Given the description of an element on the screen output the (x, y) to click on. 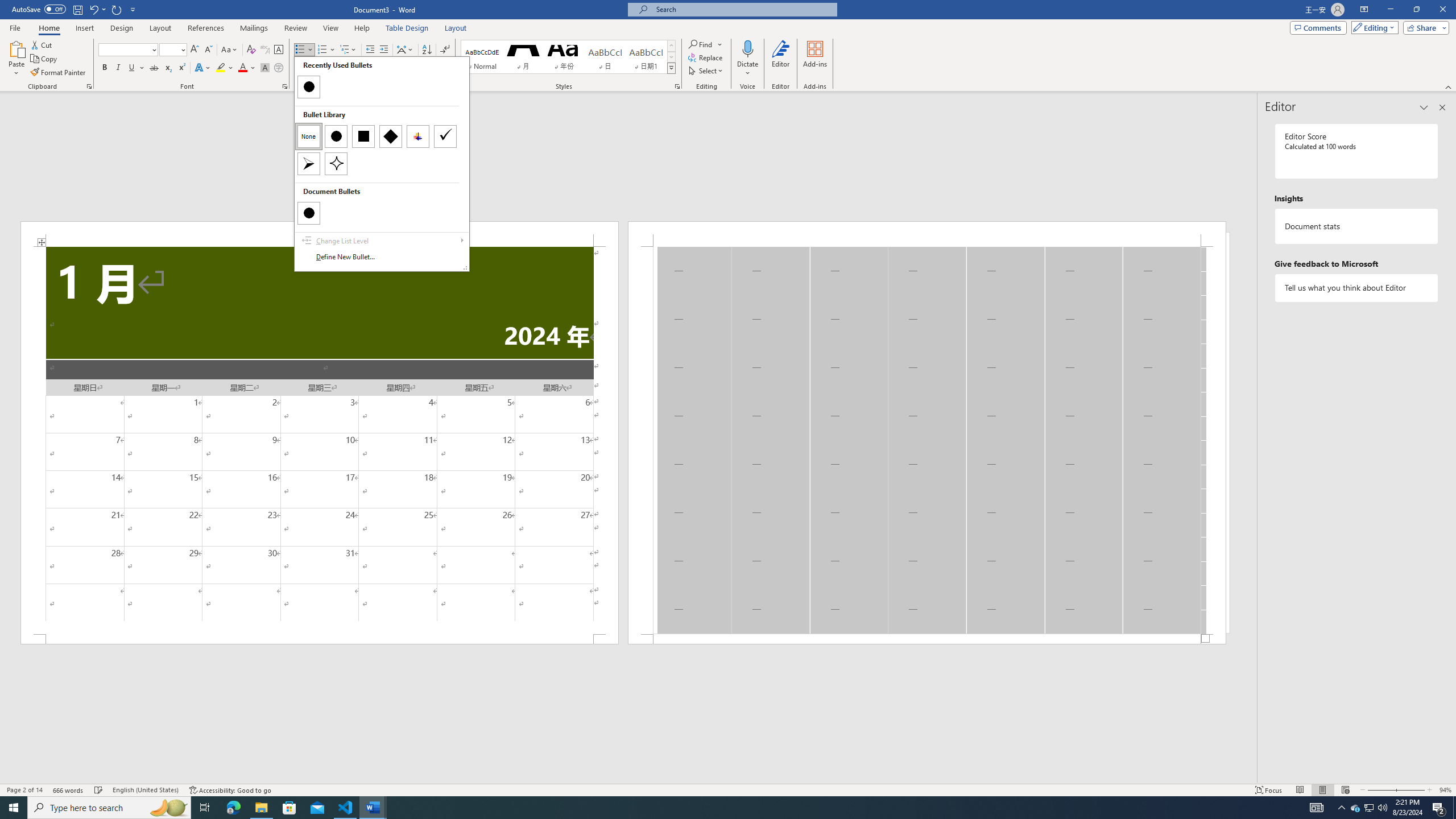
Help (361, 28)
Row up (670, 45)
Character Border (278, 49)
Class: NetUIScrollBar (628, 778)
Font Size (169, 49)
Grow Font (193, 49)
Bold (104, 67)
Phonetic Guide... (264, 49)
Layout (455, 28)
Subscript (167, 67)
AutoSave (38, 9)
AutomationID: 4105 (1316, 807)
Font (128, 49)
